Given the description of an element on the screen output the (x, y) to click on. 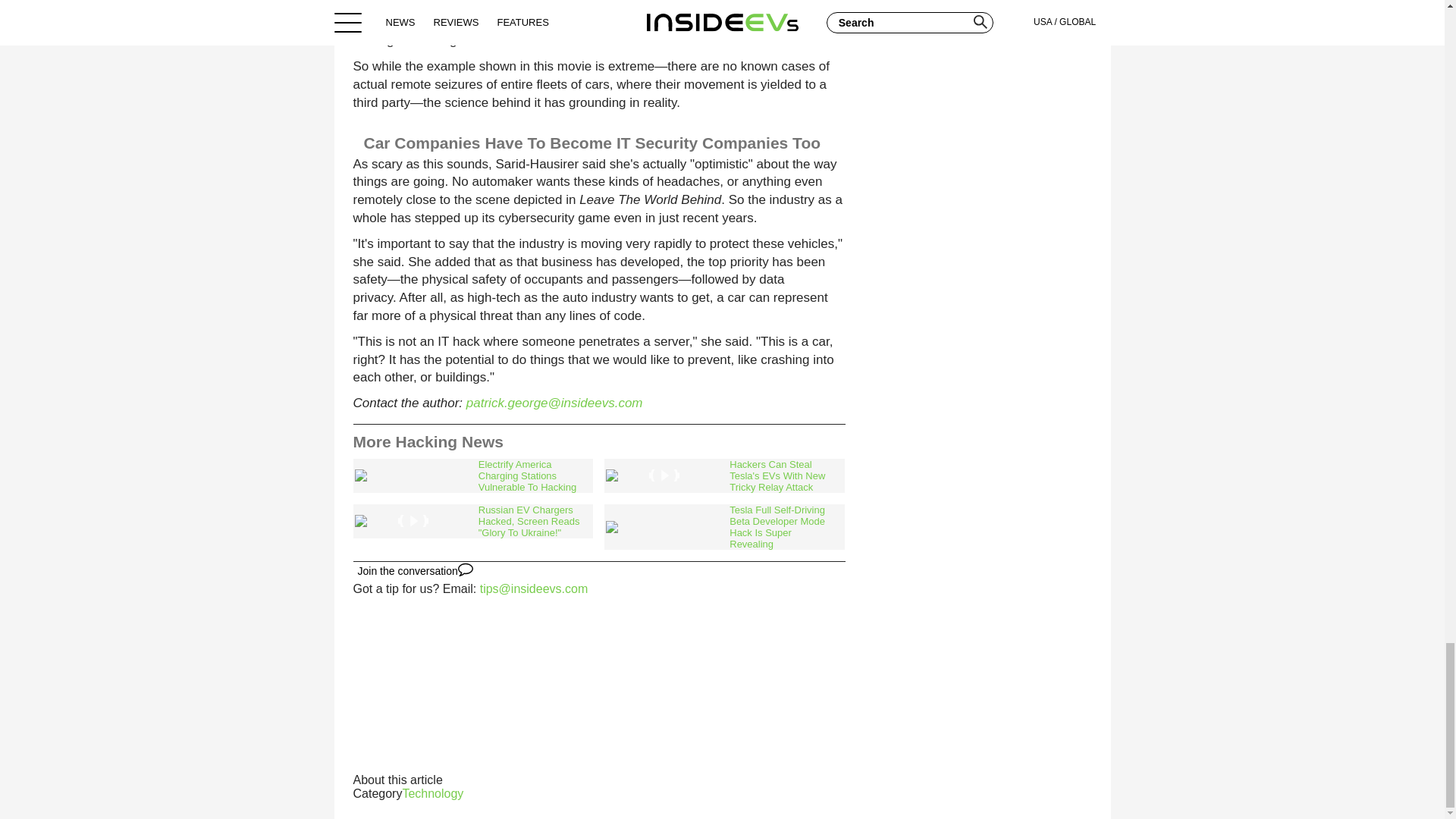
Electrify America Charging Stations Vulnerable To Hacking (473, 475)
Hackers Can Steal Tesla's EVs With New Tricky Relay Attack (724, 475)
Russian EV Chargers Hacked, Screen Reads "Glory To Ukraine!" (473, 521)
